Given the description of an element on the screen output the (x, y) to click on. 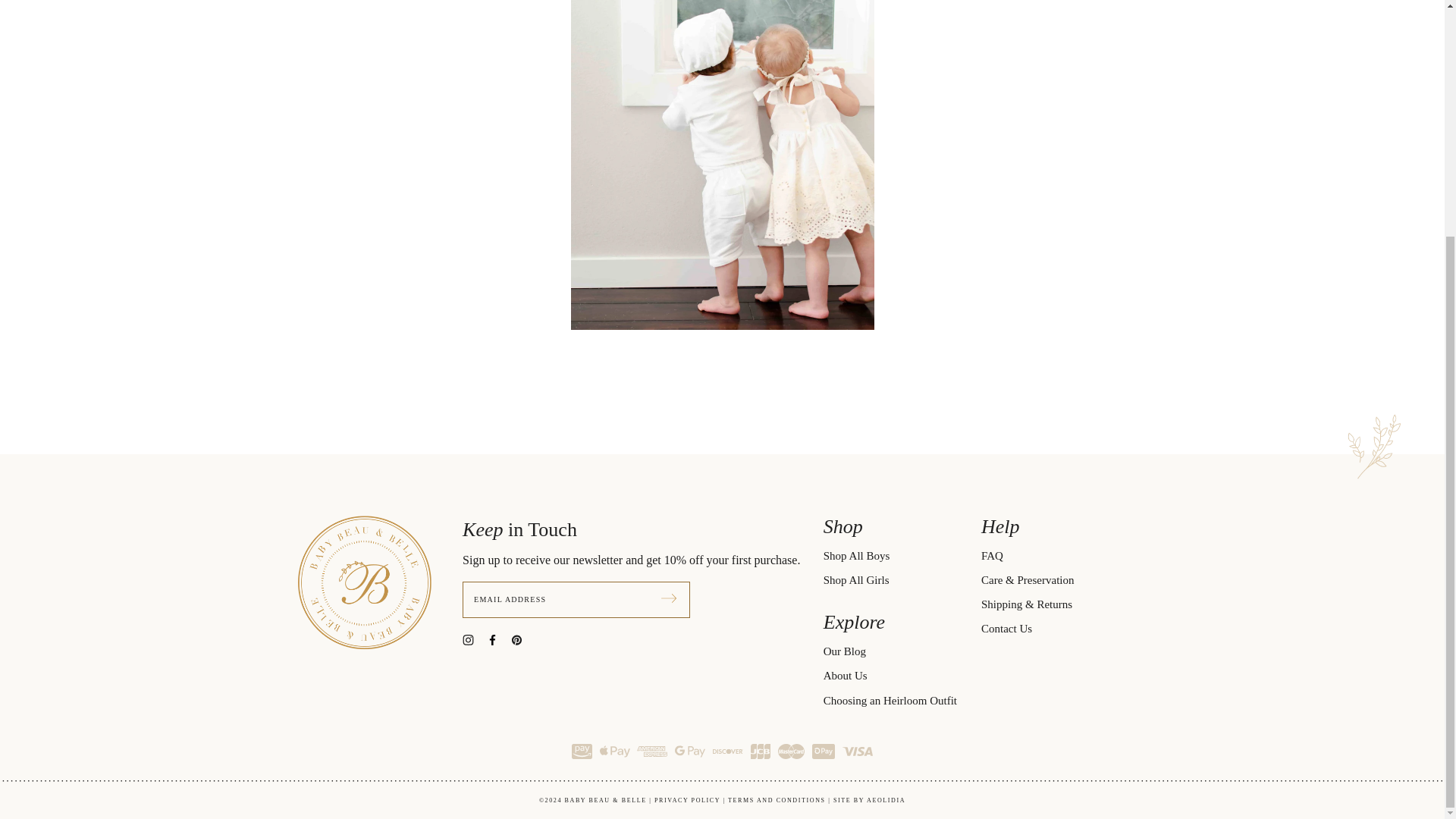
arrow icon (669, 597)
Baby Beau and Belle on Facebook (498, 638)
Baby Beau and Belle on Instagram (474, 638)
